Given the description of an element on the screen output the (x, y) to click on. 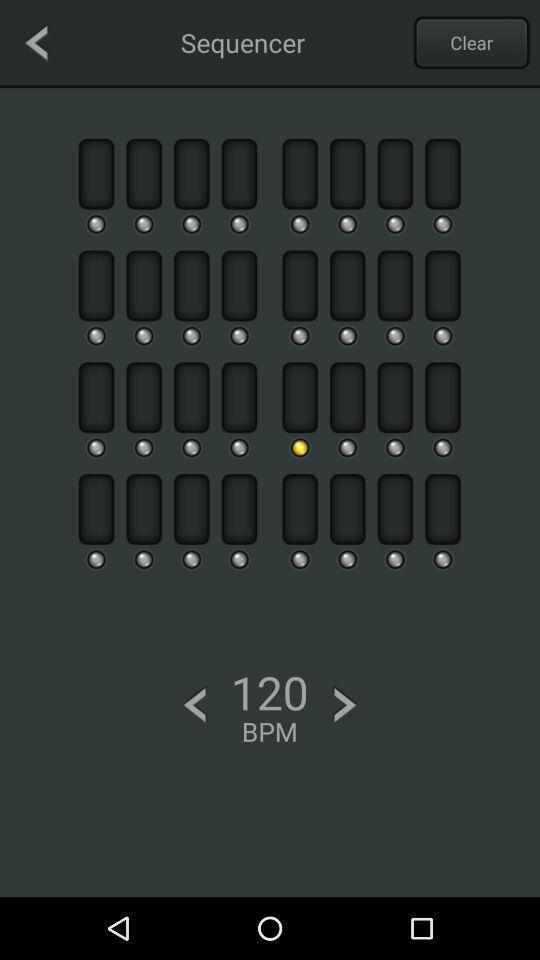
go back a page (36, 42)
